Given the description of an element on the screen output the (x, y) to click on. 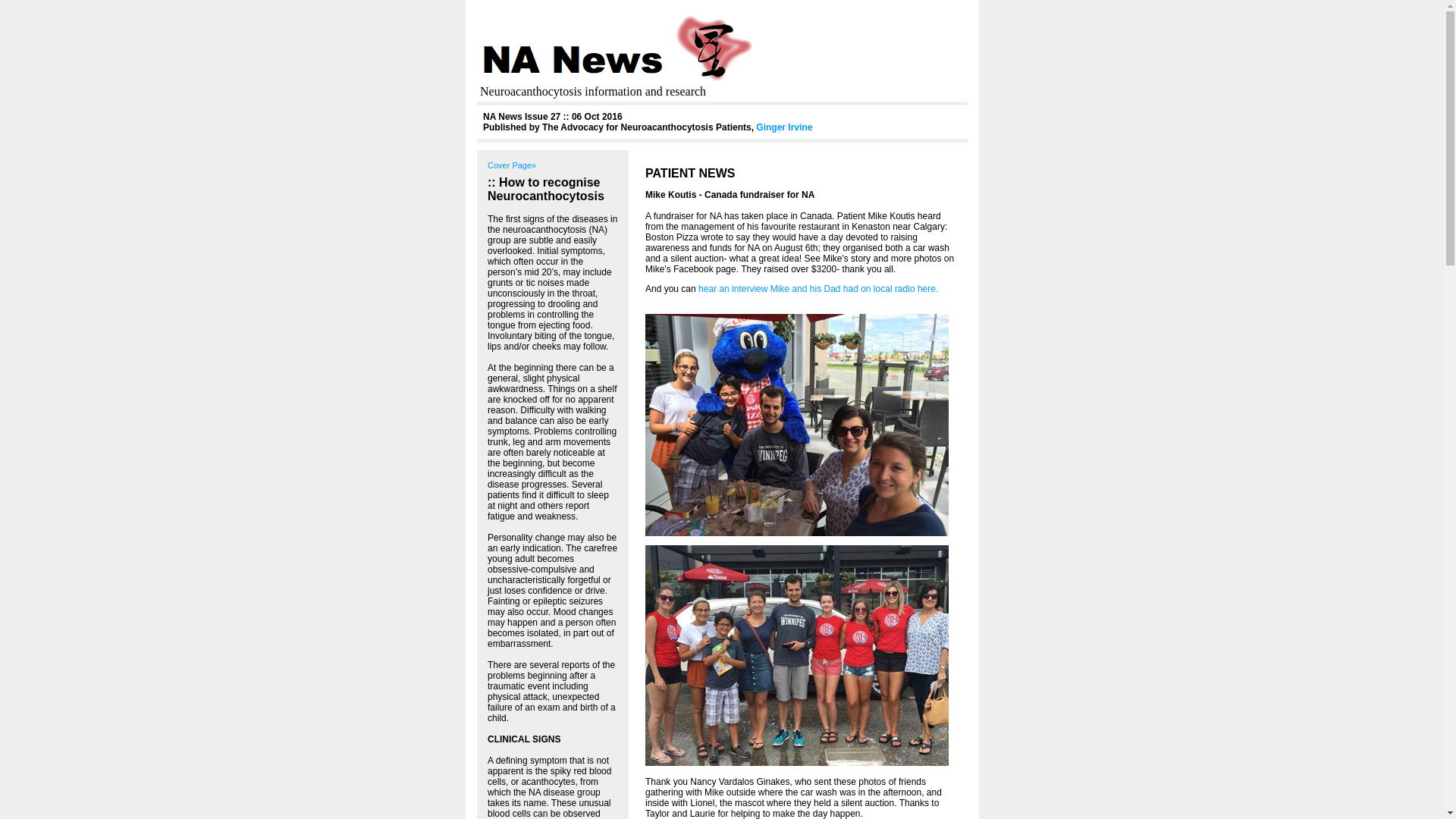
Ginger Irvine (783, 127)
hear an interview Mike and his Dad had on local radio here. (817, 288)
